Given the description of an element on the screen output the (x, y) to click on. 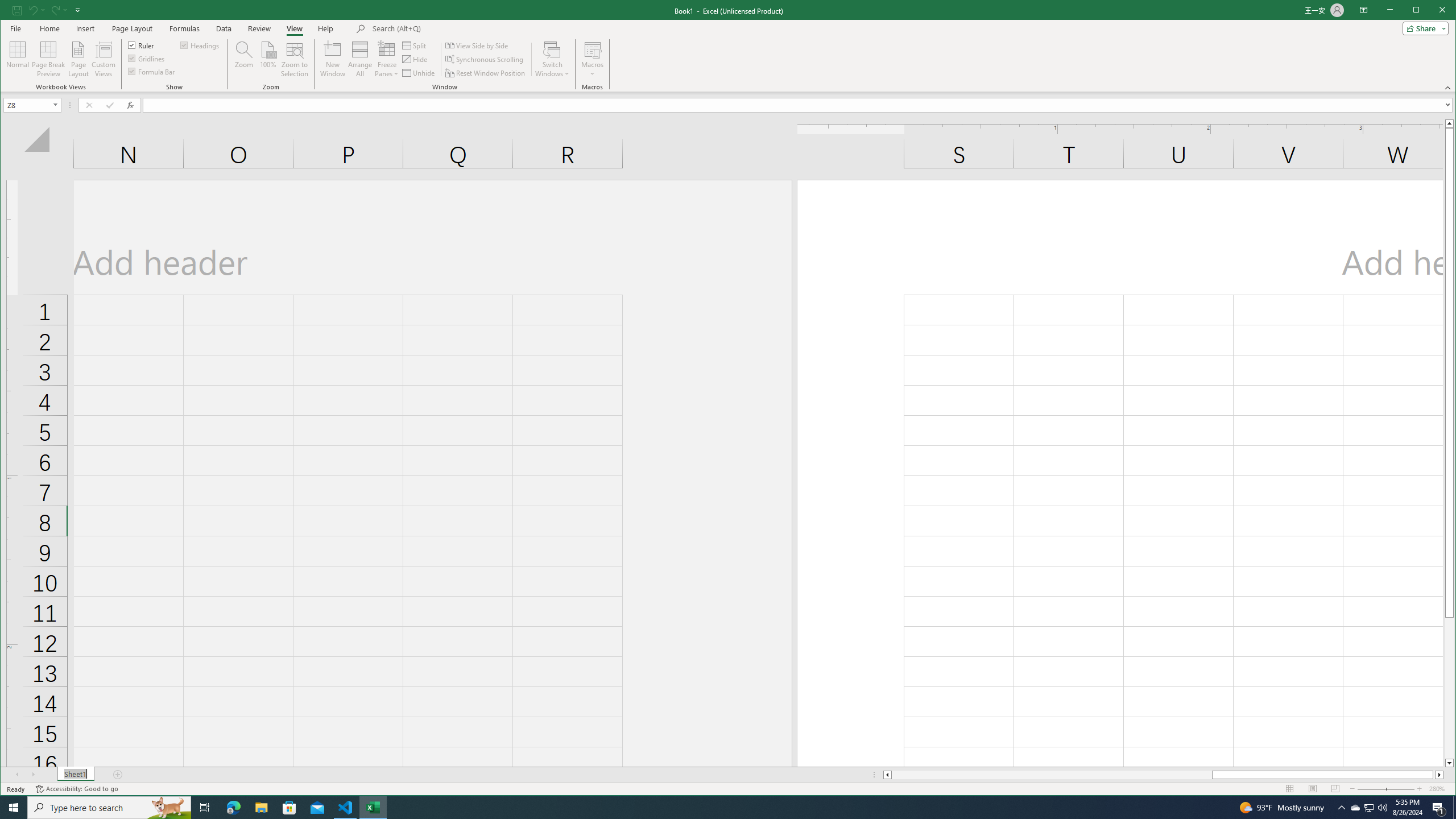
View Side by Side (478, 45)
Reset Window Position (486, 72)
Macros (1355, 807)
Notification Chevron (592, 59)
Running applications (1368, 807)
Type here to search (1341, 807)
Action Center, 1 new notification (717, 807)
